Given the description of an element on the screen output the (x, y) to click on. 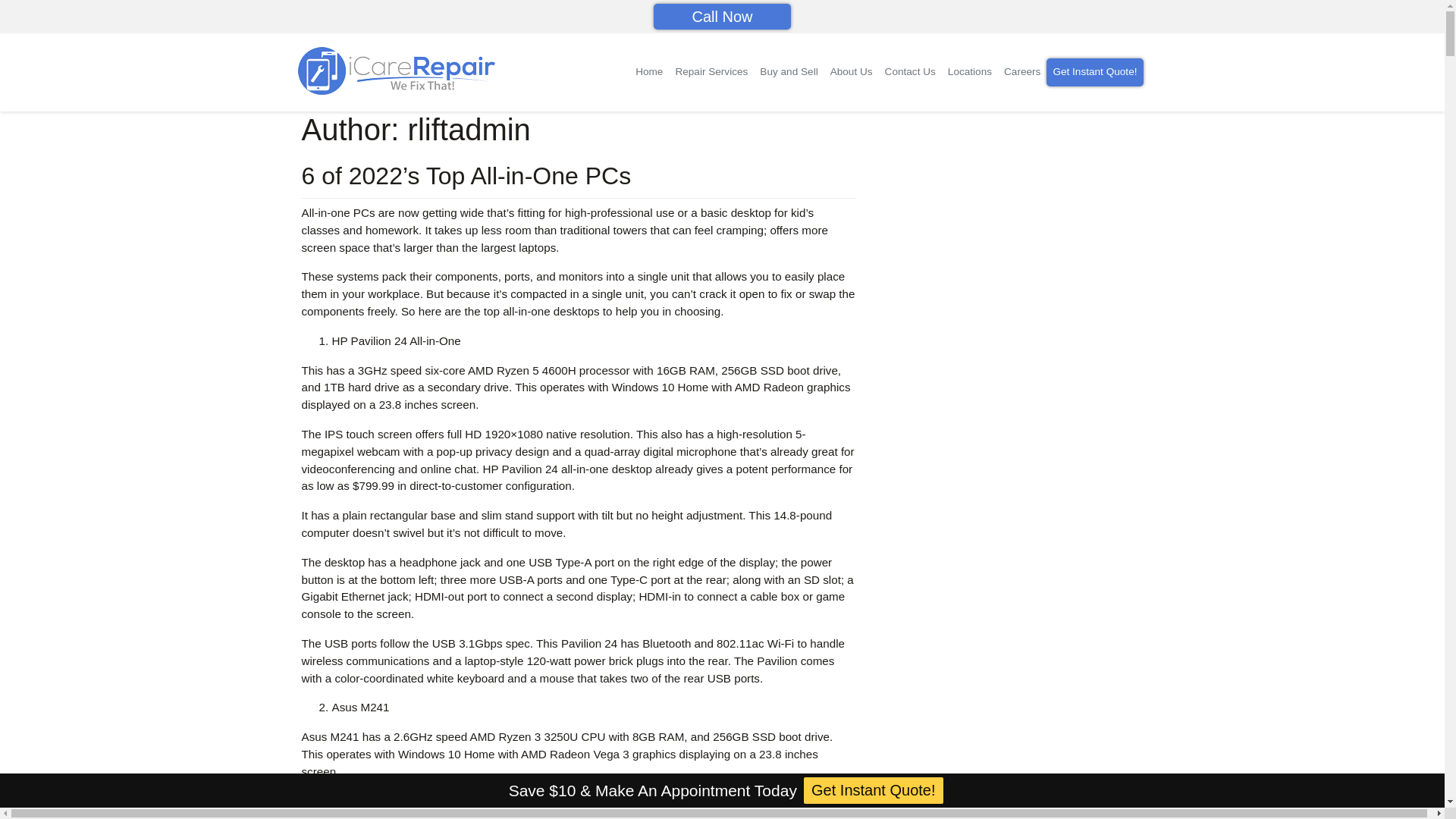
Repair Services (711, 71)
Repair Services (711, 71)
Call Now (721, 16)
Contact Us (910, 71)
Locations (969, 71)
Careers (1021, 71)
About Us (851, 71)
Buy and Sell (789, 71)
Home (648, 71)
Get Instant Quote! (1094, 71)
About Us (851, 71)
Buy and Sell (789, 71)
Home (648, 71)
